Given the description of an element on the screen output the (x, y) to click on. 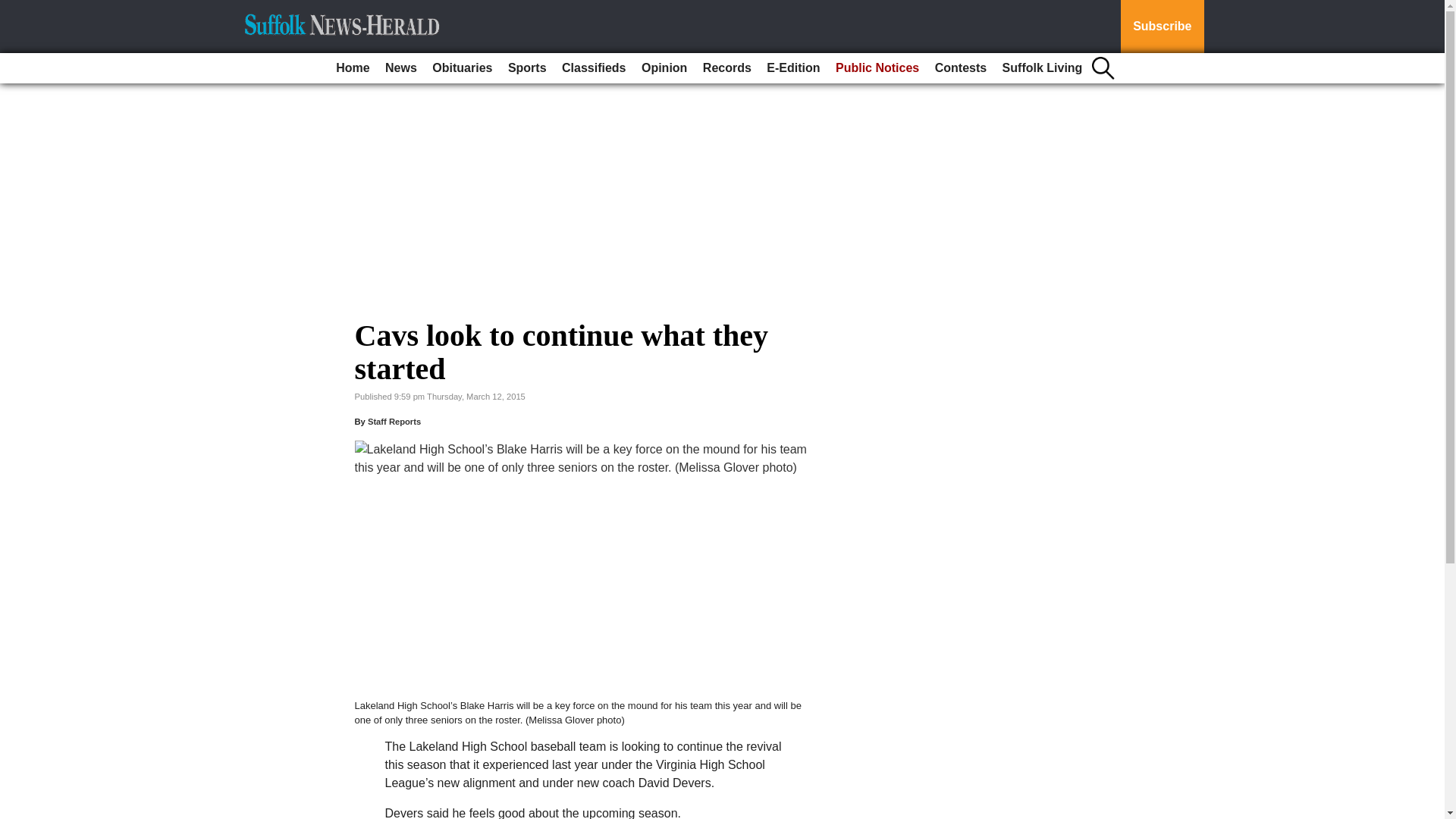
Opinion (663, 68)
Staff Reports (394, 420)
Obituaries (461, 68)
E-Edition (792, 68)
Sports (527, 68)
Subscribe (1162, 26)
Records (727, 68)
Public Notices (876, 68)
Home (352, 68)
Go (13, 9)
